Given the description of an element on the screen output the (x, y) to click on. 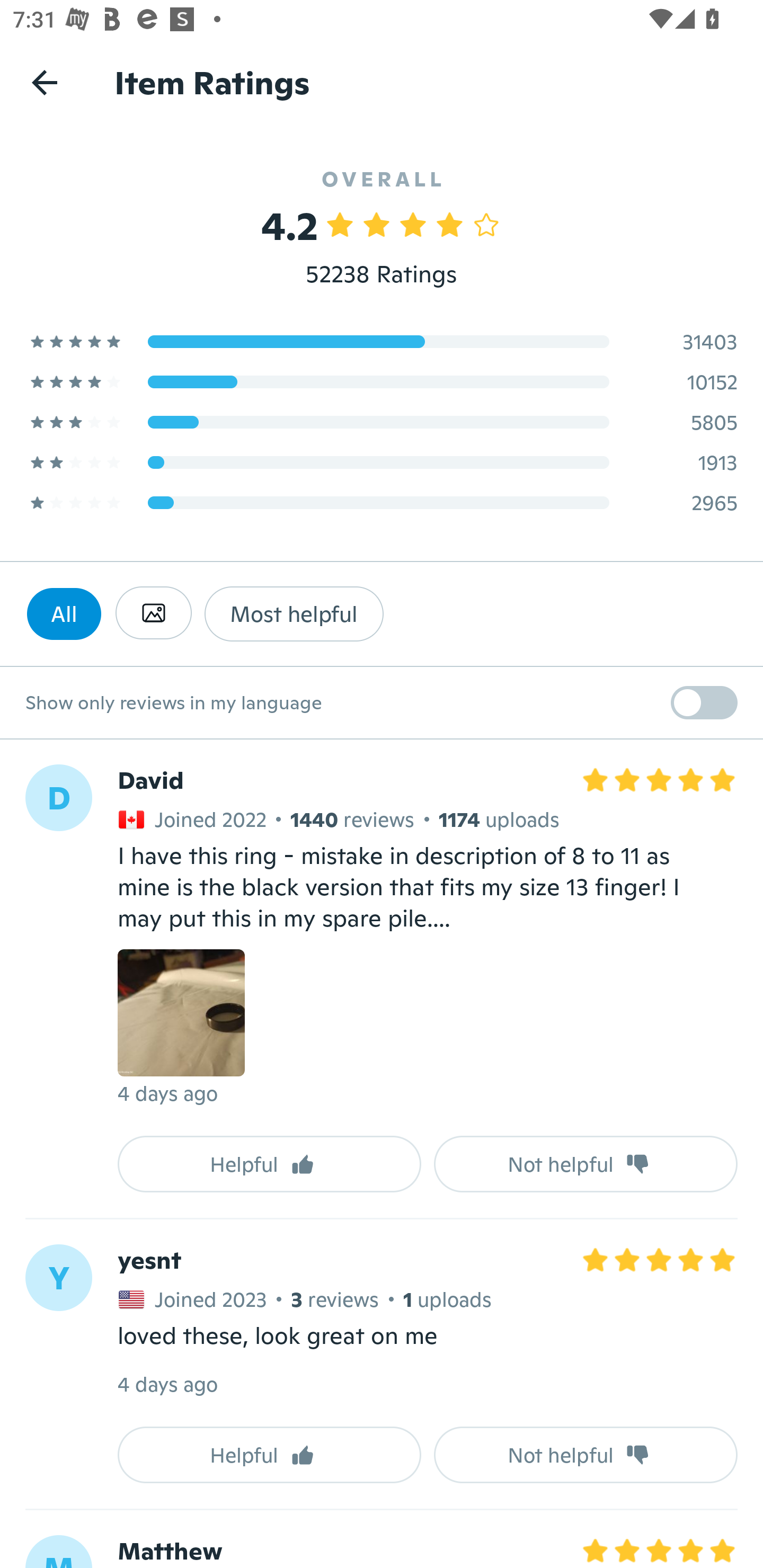
Navigate up (44, 82)
5 Star Rating 31403 (381, 341)
4 Star Rating 10152 (381, 381)
3 Star Rating 5805 (381, 421)
2 Star Rating 1913 (381, 462)
1 Star Rating 2965 (381, 502)
All (64, 613)
Has photo (153, 612)
Most helpful (293, 613)
Show only reviews in my language (381, 702)
D (58, 798)
David (150, 780)
4 days ago (167, 1093)
Helpful (269, 1163)
Not helpful (585, 1163)
Y (58, 1277)
yesnt (149, 1260)
4 days ago (167, 1384)
Helpful (269, 1454)
Not helpful (585, 1454)
Matthew (169, 1550)
